Given the description of an element on the screen output the (x, y) to click on. 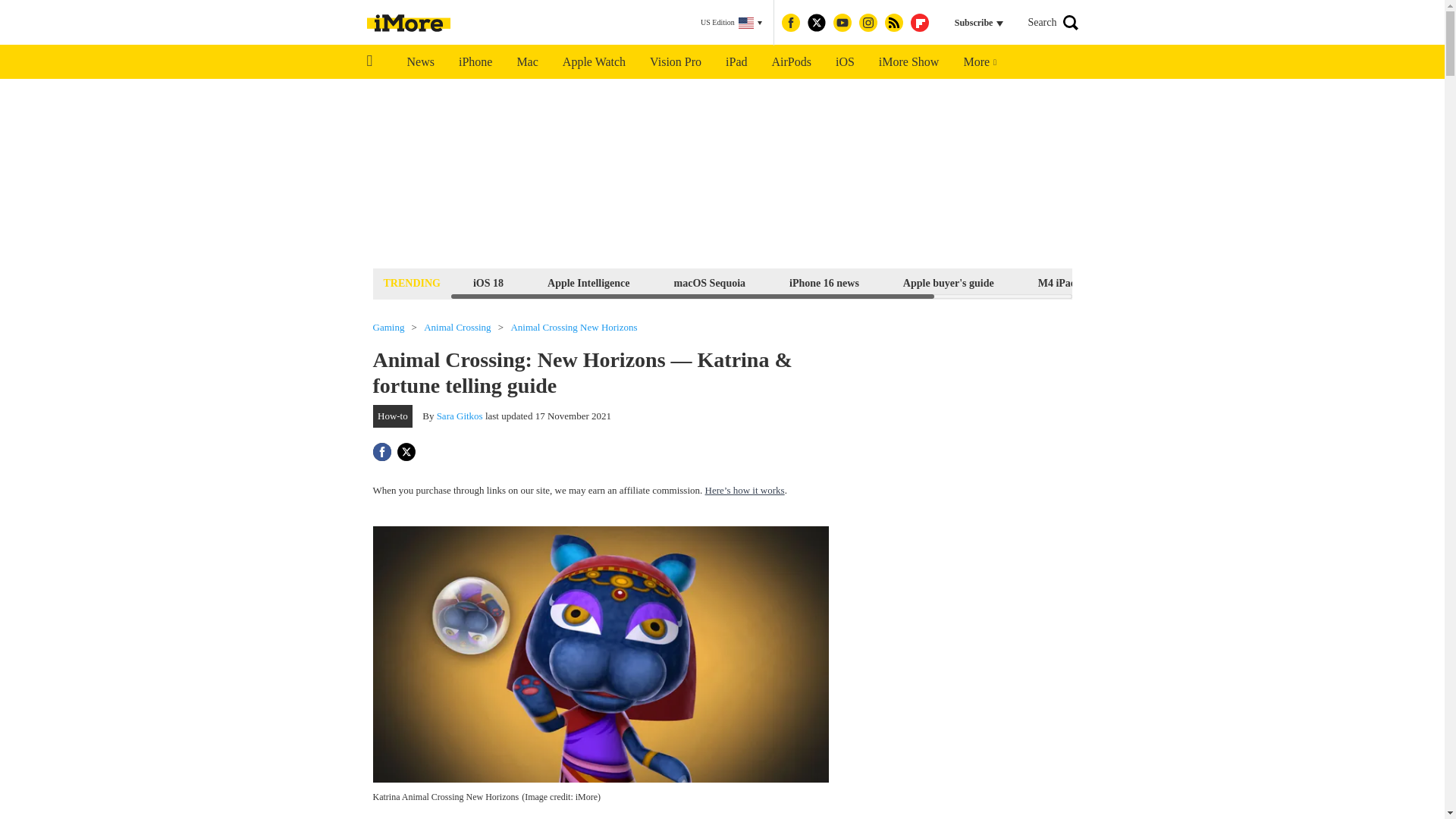
iMore Show (909, 61)
iPhone (474, 61)
iOS (845, 61)
US Edition (731, 22)
Mac (526, 61)
iPad (735, 61)
Vision Pro (675, 61)
News (419, 61)
AirPods (792, 61)
Apple Watch (593, 61)
